Given the description of an element on the screen output the (x, y) to click on. 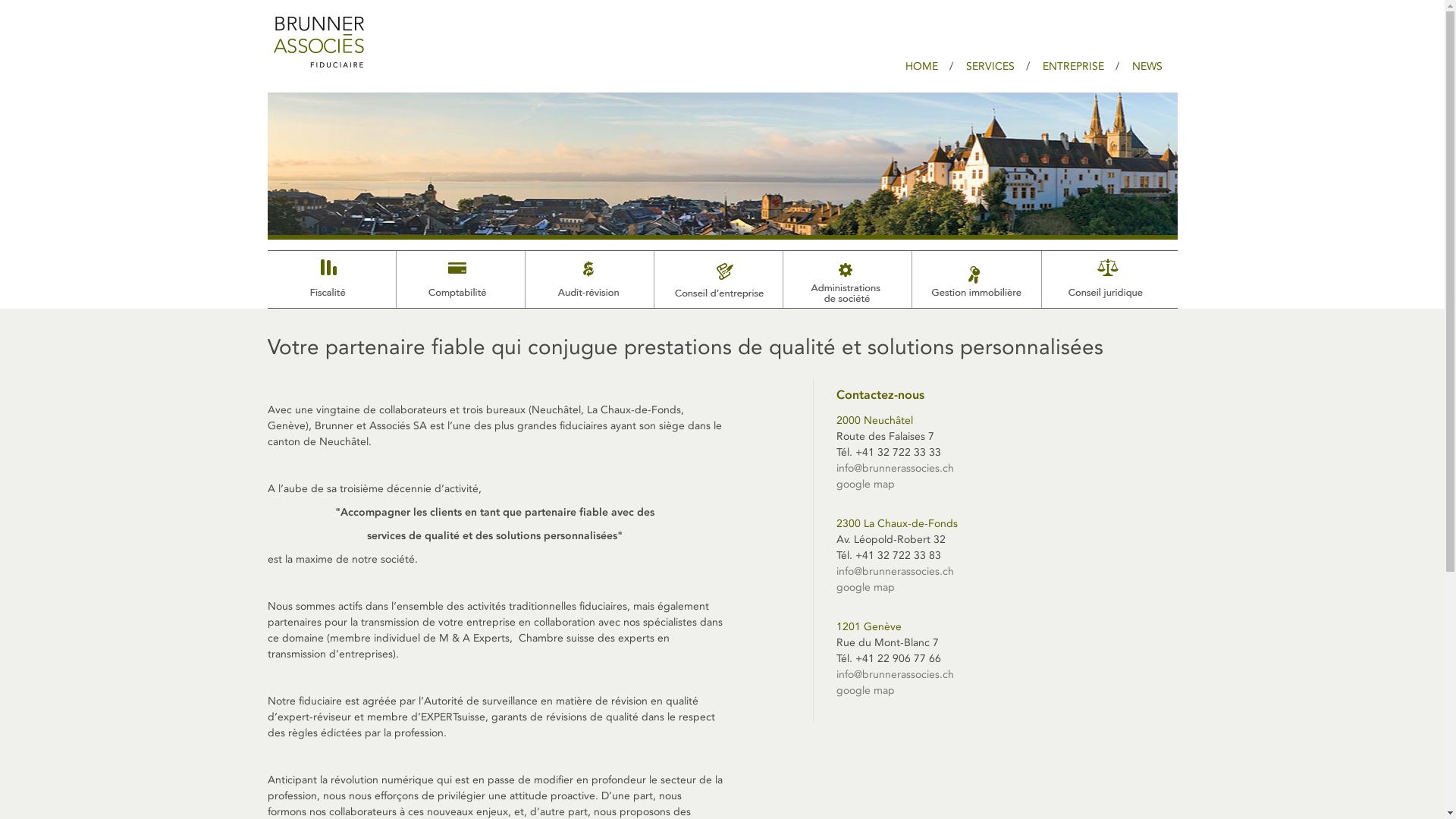
google map Element type: text (864, 586)
google map Element type: text (864, 690)
info@brunnerassocies.ch Element type: text (894, 467)
SERVICES Element type: text (990, 65)
HOME Element type: text (921, 65)
info@brunnerassocies.ch Element type: text (894, 674)
google map Element type: text (864, 483)
NEWS Element type: text (1146, 65)
Contactez-nous Element type: text (879, 394)
info@brunnerassocies.ch Element type: text (894, 570)
ENTREPRISE Element type: text (1072, 65)
